Given the description of an element on the screen output the (x, y) to click on. 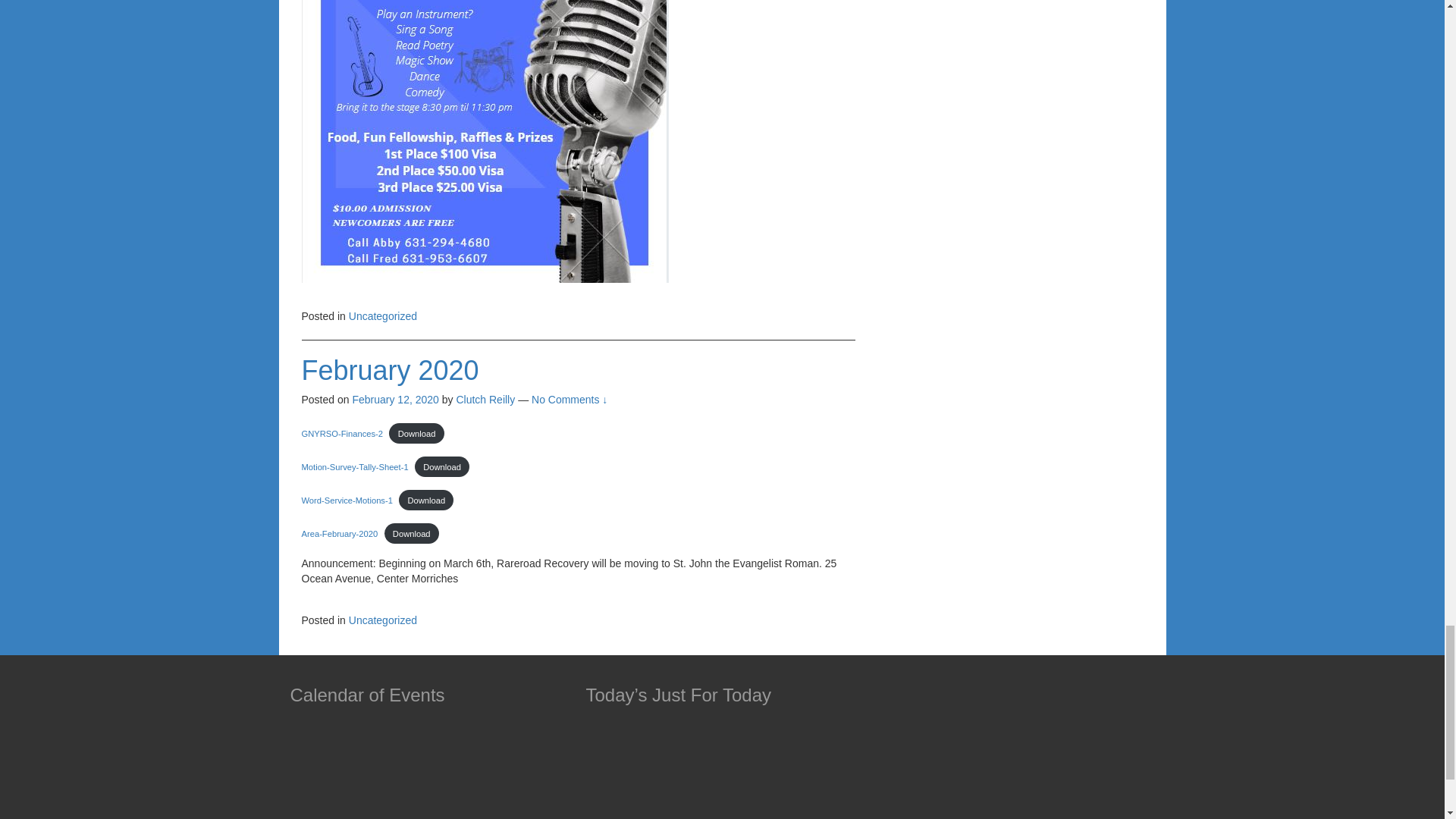
View all posts by Clutch Reilly (485, 399)
4:07 pm (395, 399)
